Given the description of an element on the screen output the (x, y) to click on. 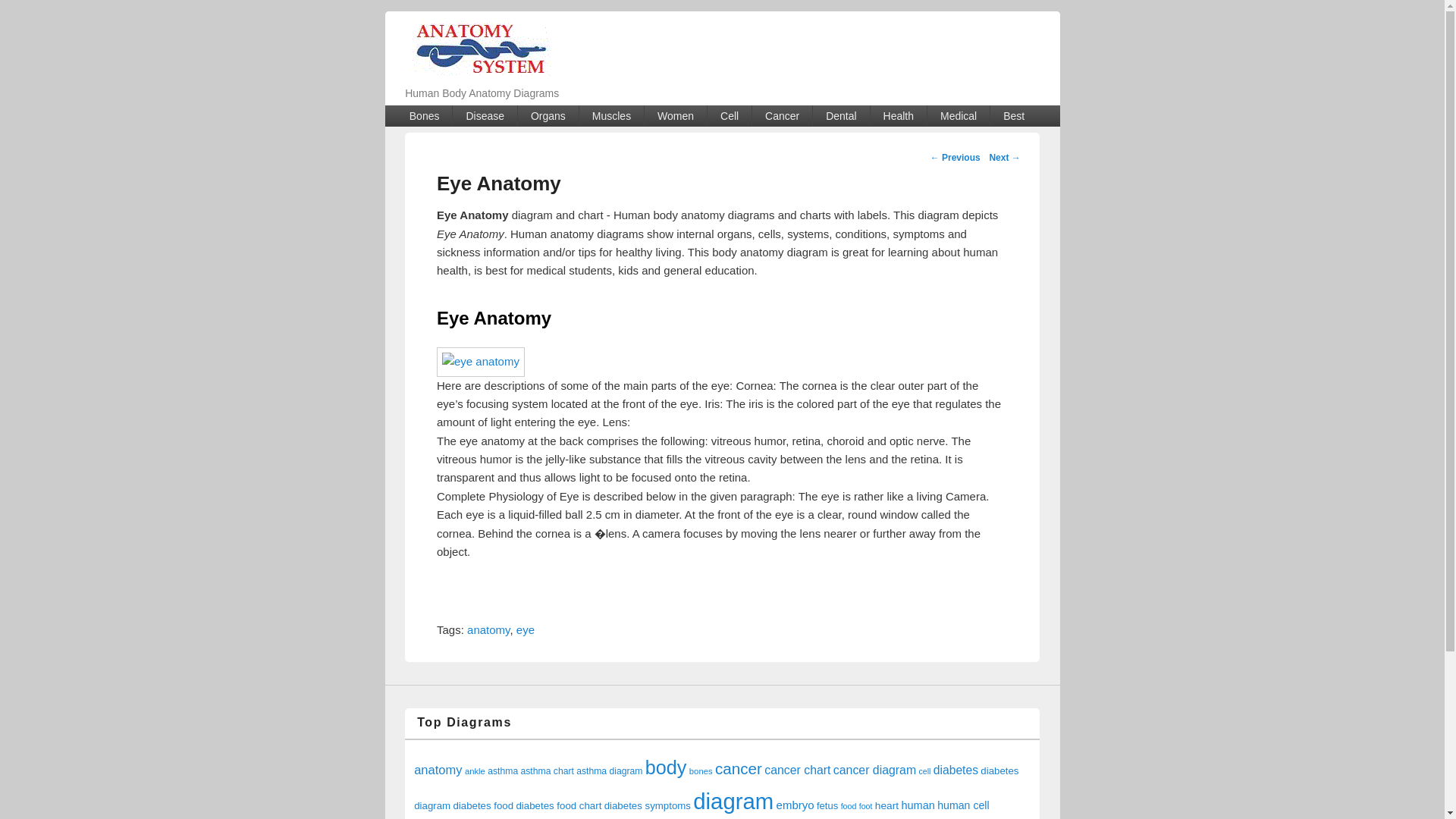
Organs (548, 115)
Women (675, 115)
Medical (958, 115)
Bones (424, 115)
cancer diagram (873, 769)
diabetes (955, 769)
Muscles (611, 115)
body (666, 767)
ankle (474, 770)
cell (924, 770)
